Given the description of an element on the screen output the (x, y) to click on. 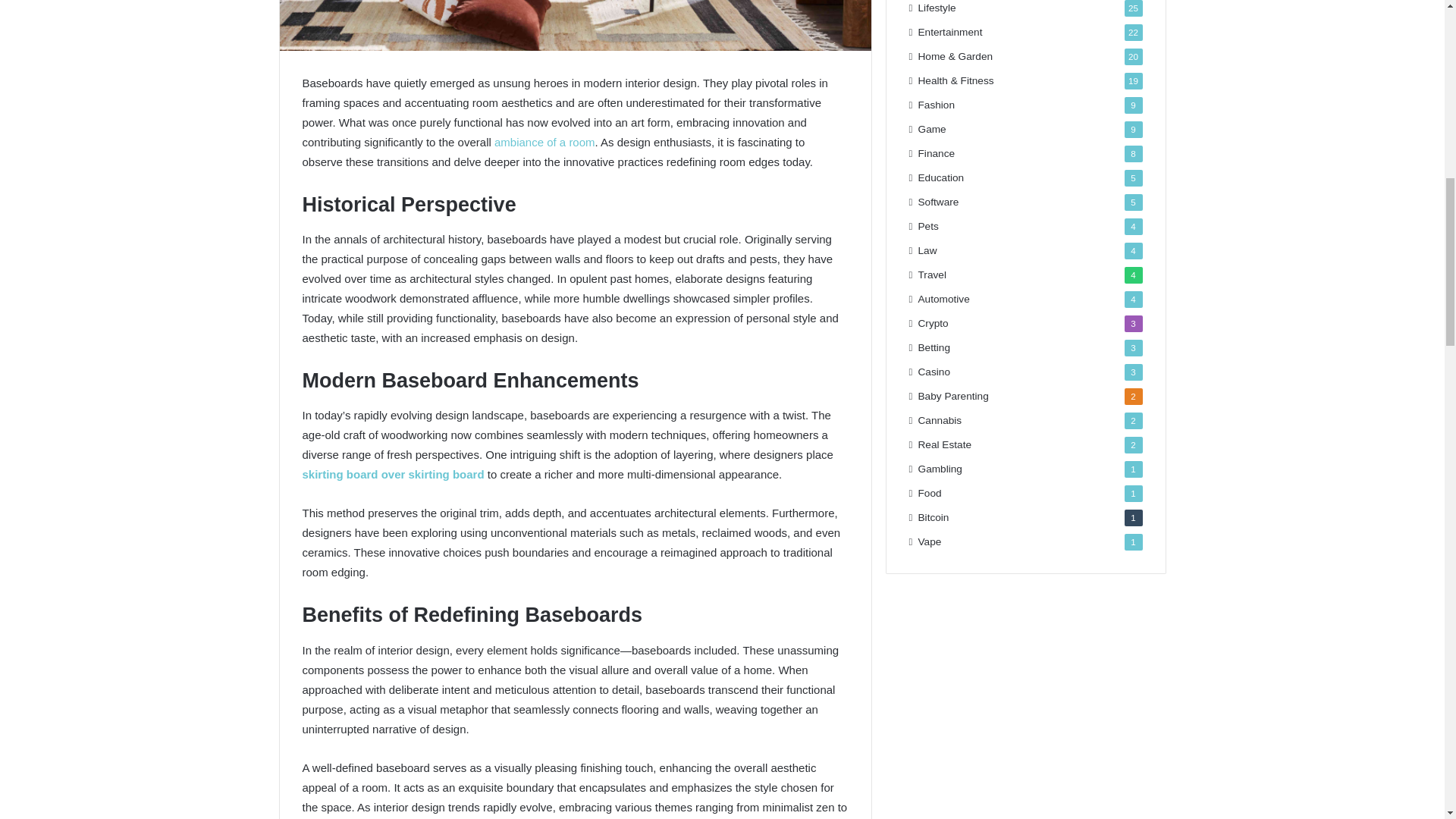
skirting board over skirting board (392, 473)
ambiance of a room (545, 141)
